Given the description of an element on the screen output the (x, y) to click on. 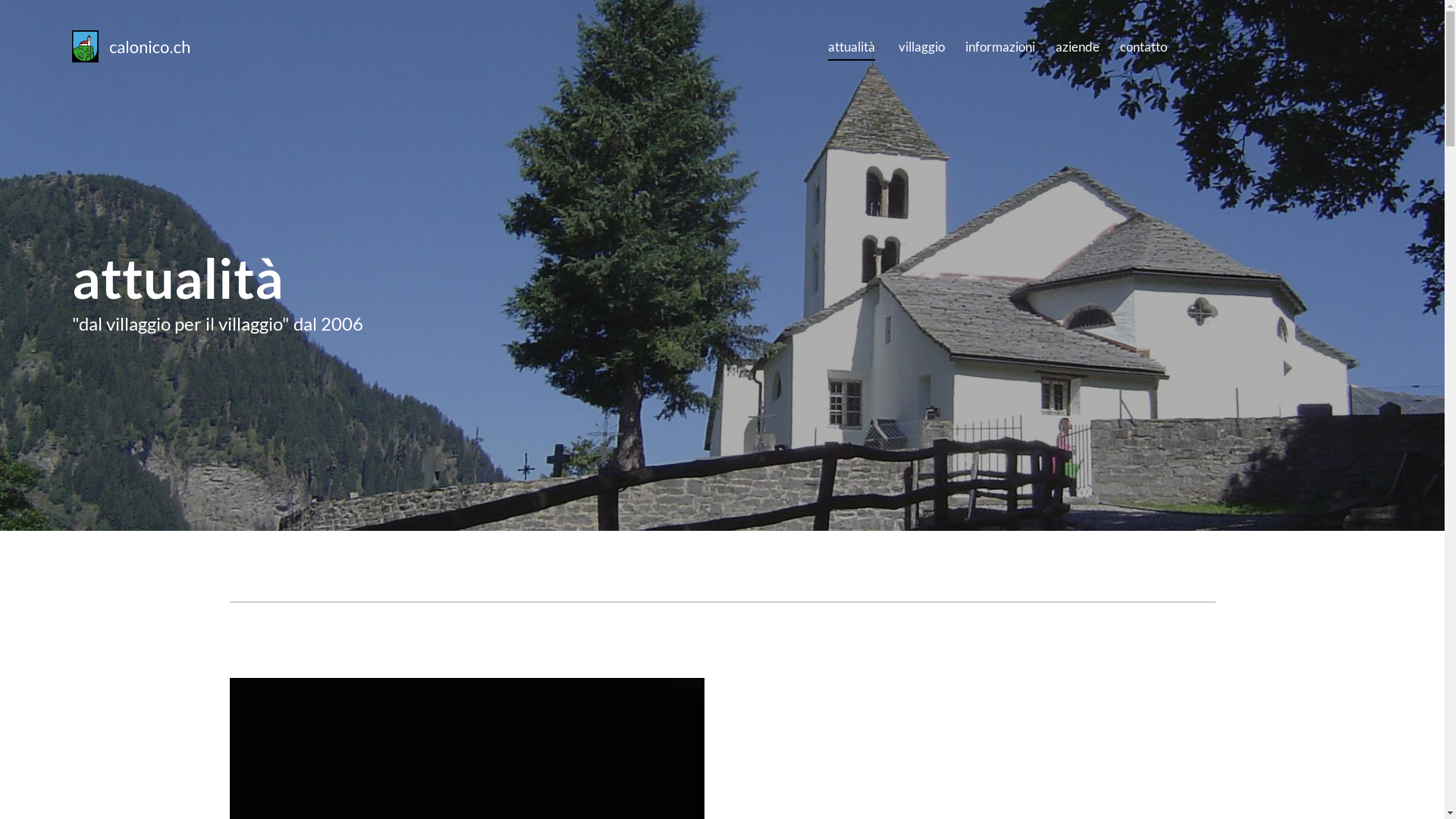
informazioni Element type: text (1000, 45)
contatto Element type: text (1143, 45)
aziende Element type: text (1077, 45)
villaggio Element type: text (921, 45)
